Given the description of an element on the screen output the (x, y) to click on. 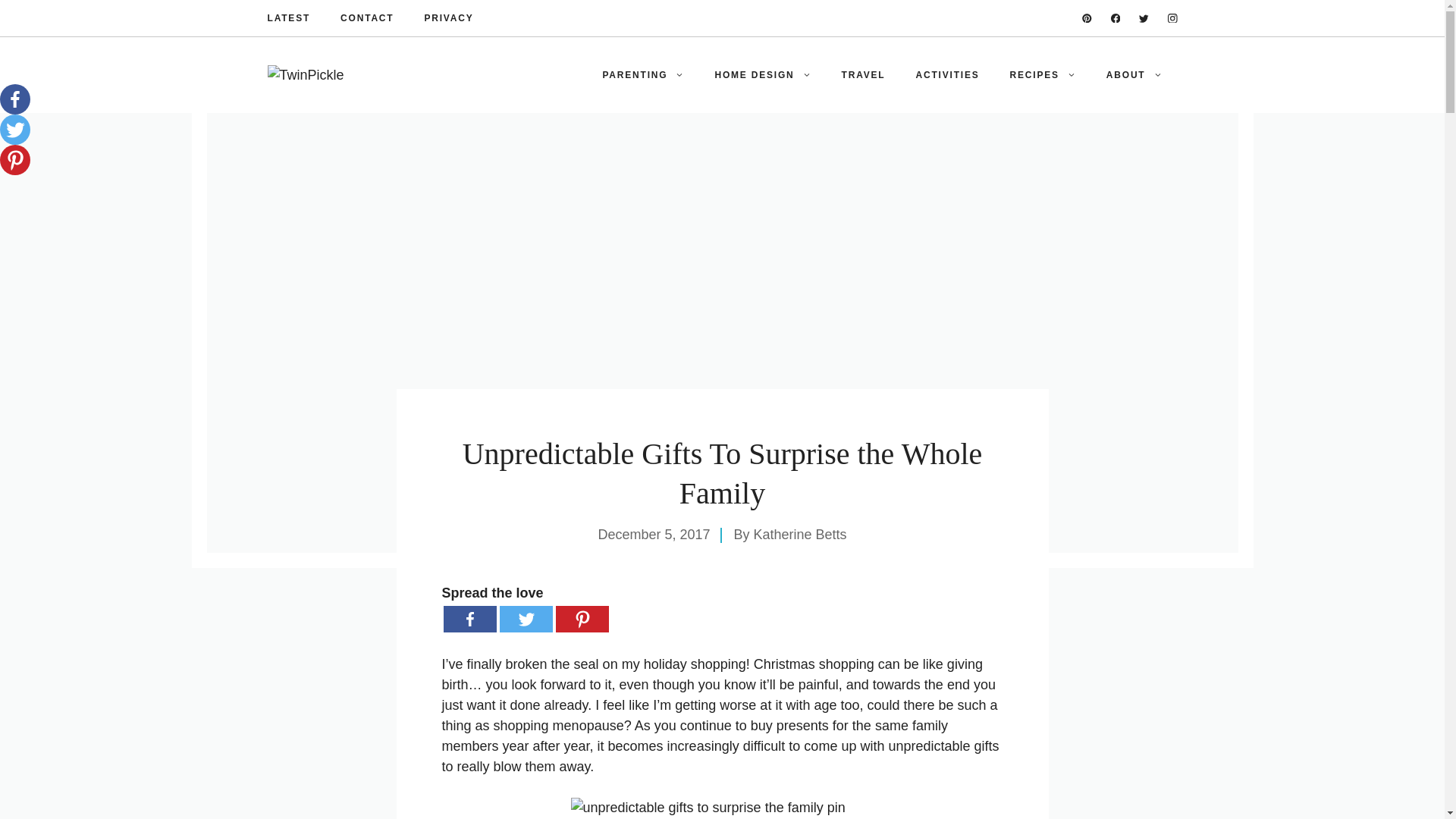
ABOUT (1133, 74)
RECIPES (1042, 74)
Pinterest (581, 619)
Twitter (525, 619)
ACTIVITIES (947, 74)
PARENTING (642, 74)
TRAVEL (864, 74)
PRIVACY (448, 18)
CONTACT (366, 18)
Facebook (15, 99)
